Given the description of an element on the screen output the (x, y) to click on. 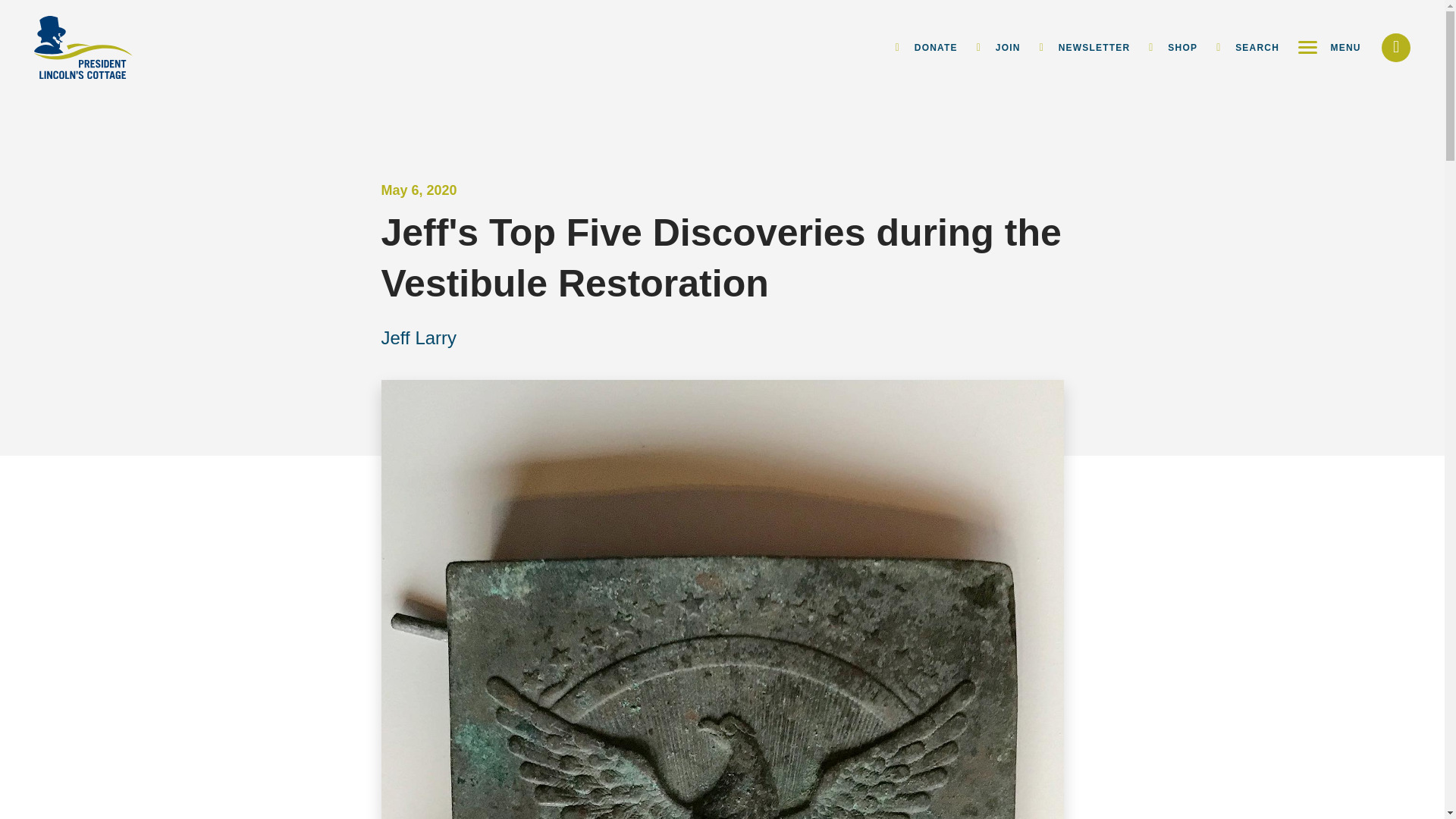
SHOP (1172, 47)
JOIN (998, 47)
NEWSLETTER (1085, 47)
SEARCH (1247, 47)
DONATE (926, 47)
